Given the description of an element on the screen output the (x, y) to click on. 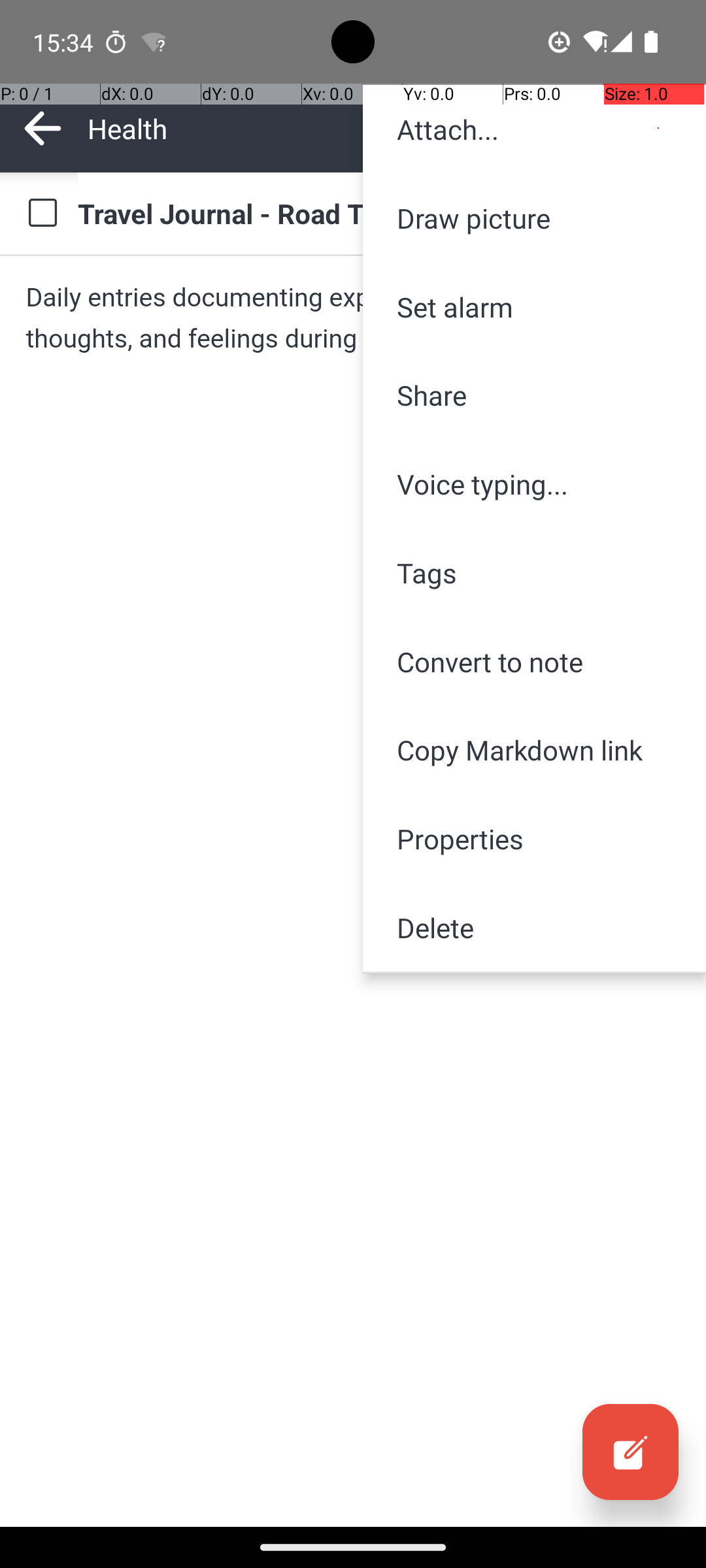
Daily entries documenting experiences, observations, thoughts, and feelings during the trip. Element type: android.widget.TextView (352, 317)
